Given the description of an element on the screen output the (x, y) to click on. 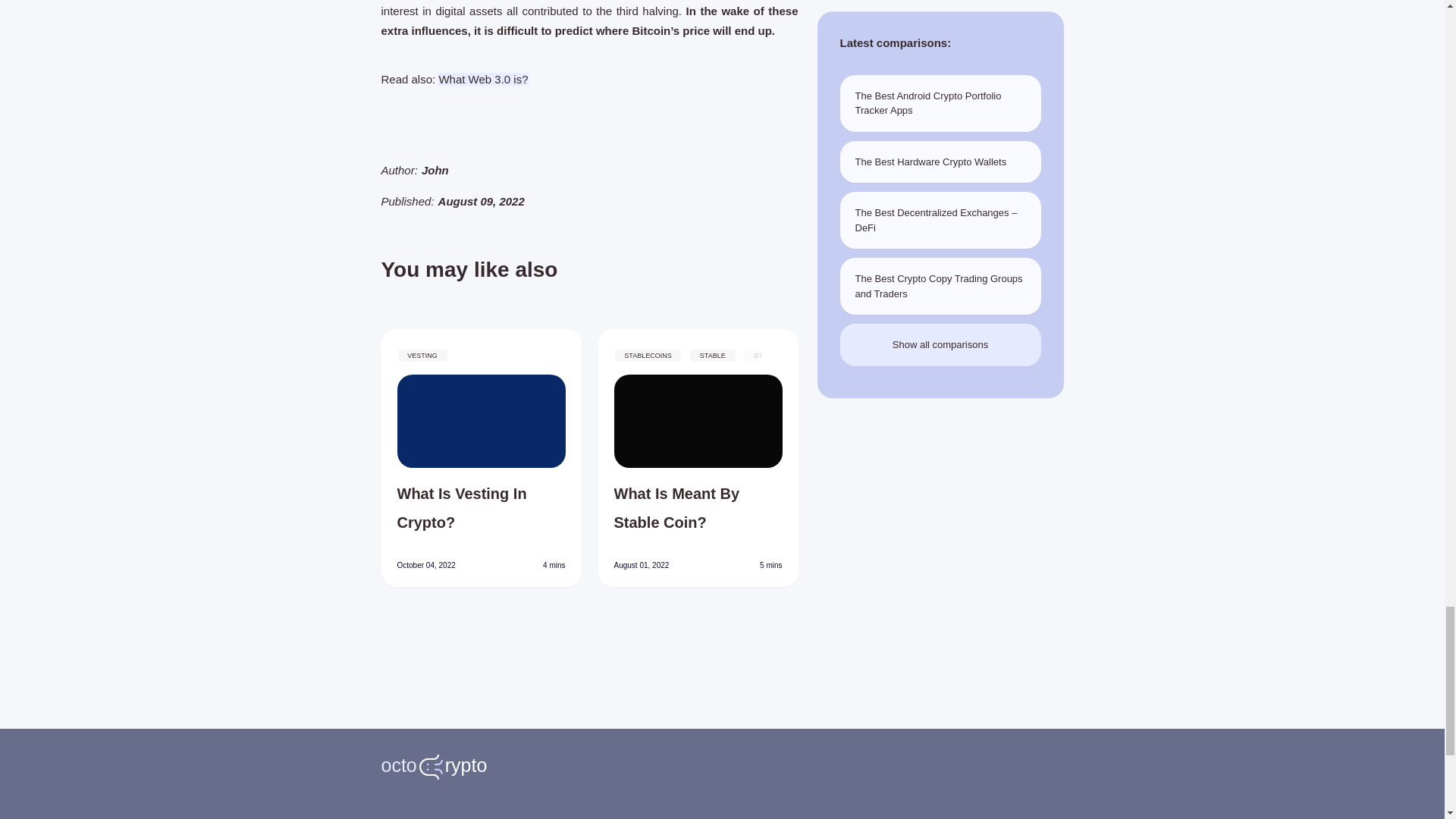
What Web 3.0 is? (482, 78)
VESTING (422, 355)
STABLECOIN (688, 364)
STABLECOINS (648, 355)
STABLE (711, 355)
What Is Meant By Stable Coin? (698, 508)
What Is Vesting In Crypto? (481, 508)
What Web 3.0 is? (482, 78)
